Given the description of an element on the screen output the (x, y) to click on. 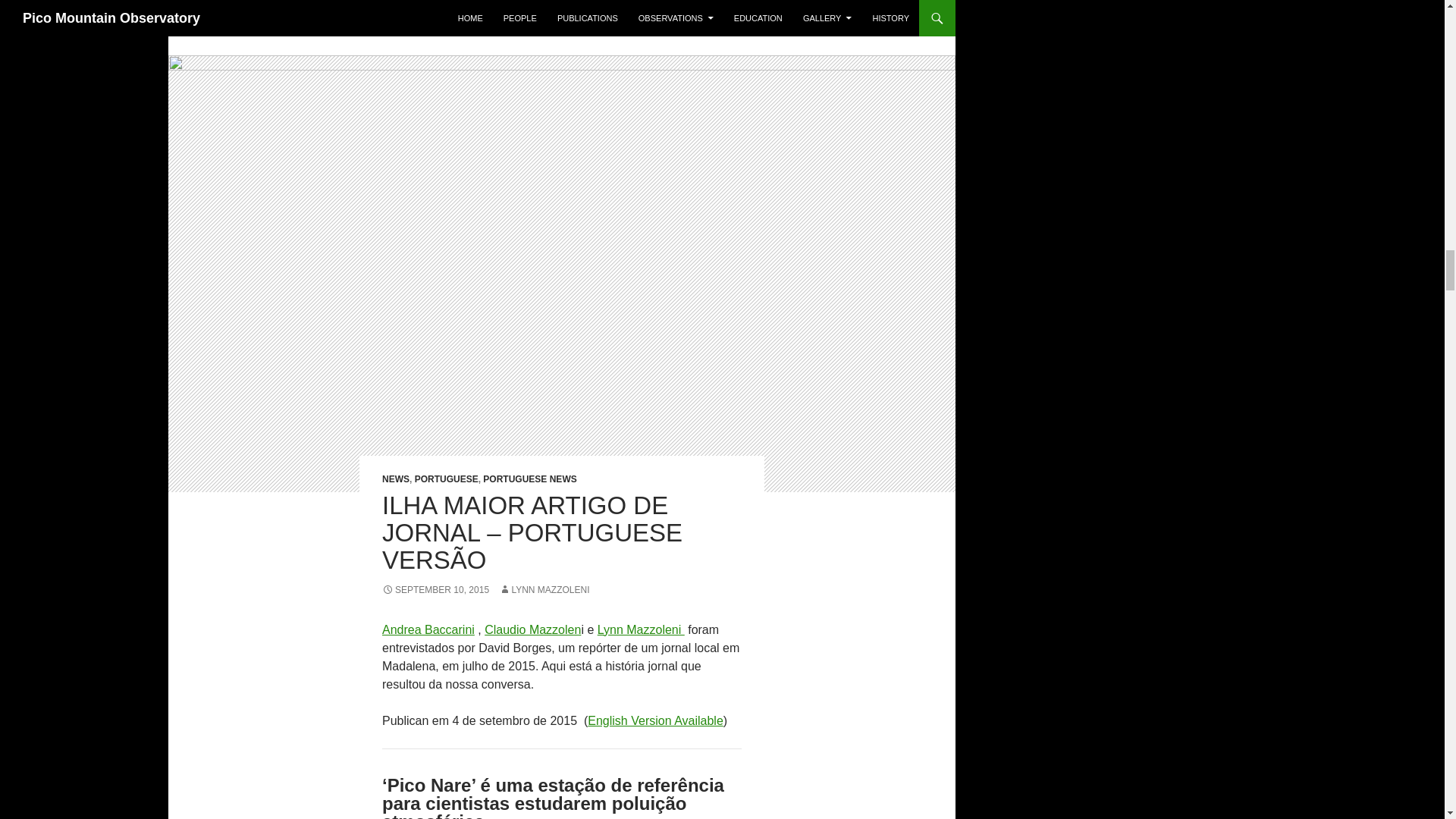
Claudio Mazzolen (532, 629)
English Version Available (655, 720)
FEATURED (417, 9)
Lynn Mazzoleni (640, 629)
PORTUGUESE (446, 479)
SEPTEMBER 10, 2015 (435, 589)
PORTUGUESE NEWS (529, 479)
NEWS (395, 479)
Andrea Baccarini (427, 629)
LYNN MAZZOLENI (544, 589)
